Given the description of an element on the screen output the (x, y) to click on. 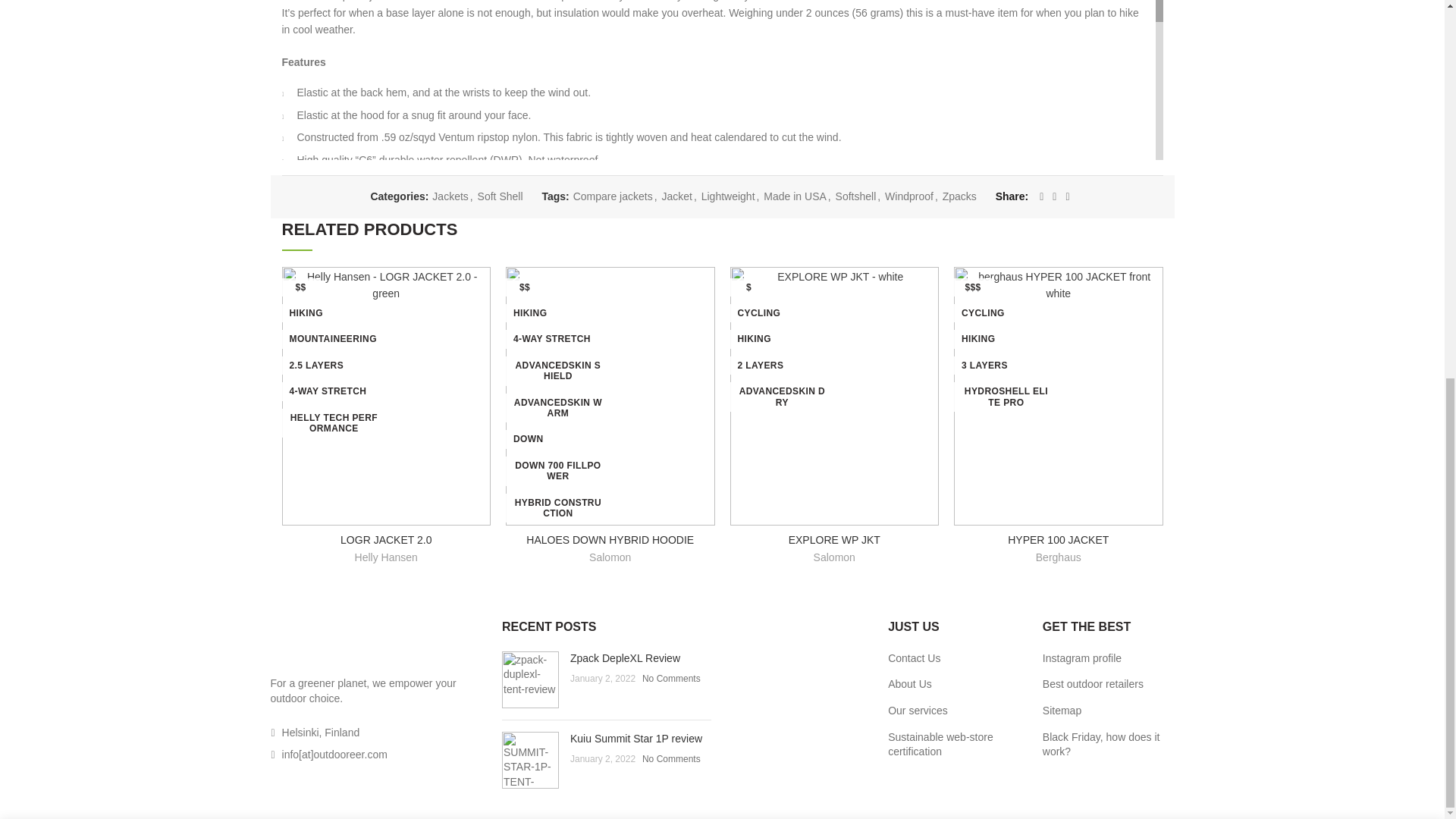
Permalink to Zpack DepleXL Review (624, 657)
Permalink to Kuiu Summit Star 1P review (635, 738)
zpack-duplexl-tent-review (530, 679)
SUMMIT-STAR-1P-TENT-SET-review (530, 760)
